Given the description of an element on the screen output the (x, y) to click on. 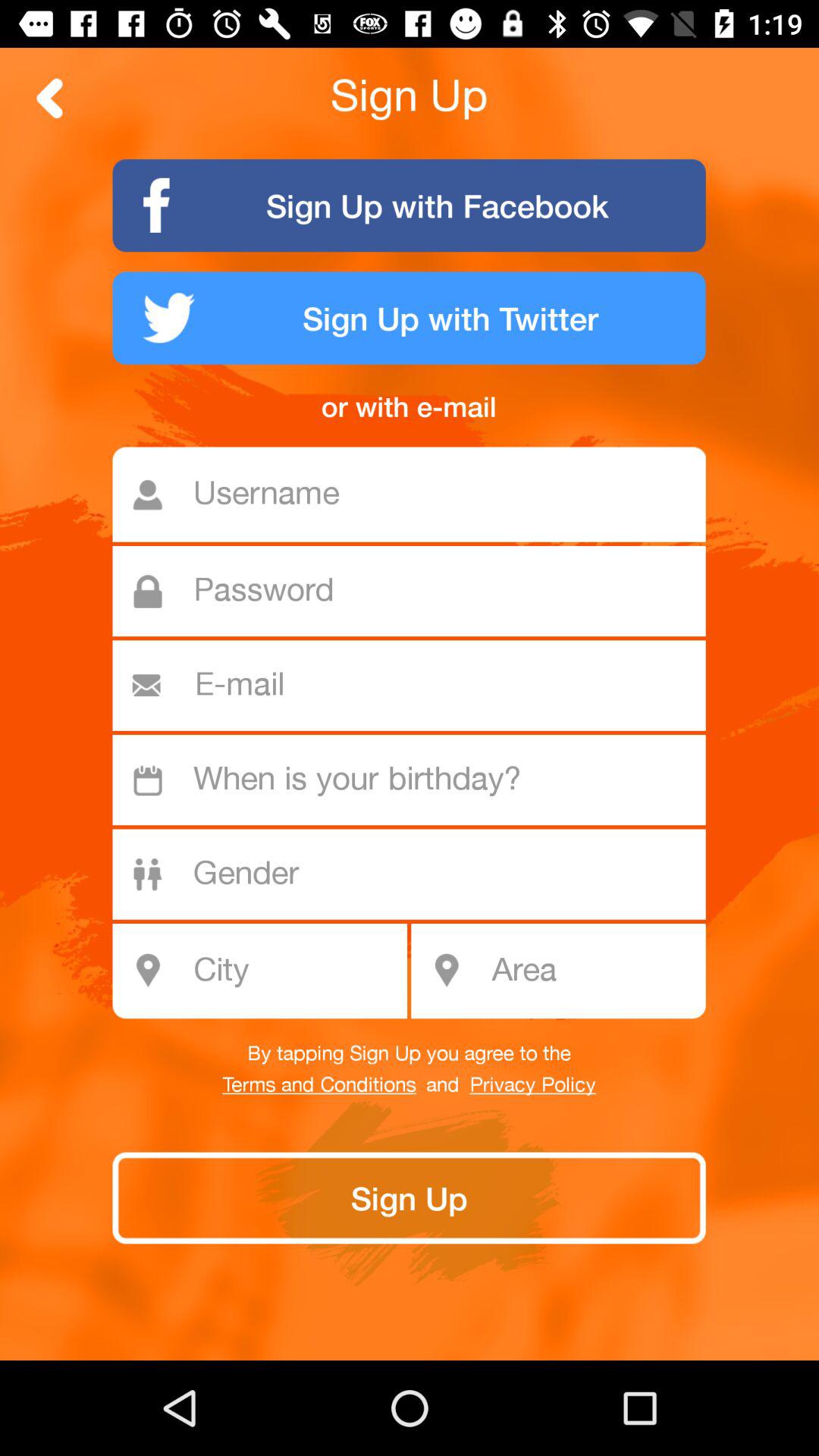
enter city (268, 970)
